Given the description of an element on the screen output the (x, y) to click on. 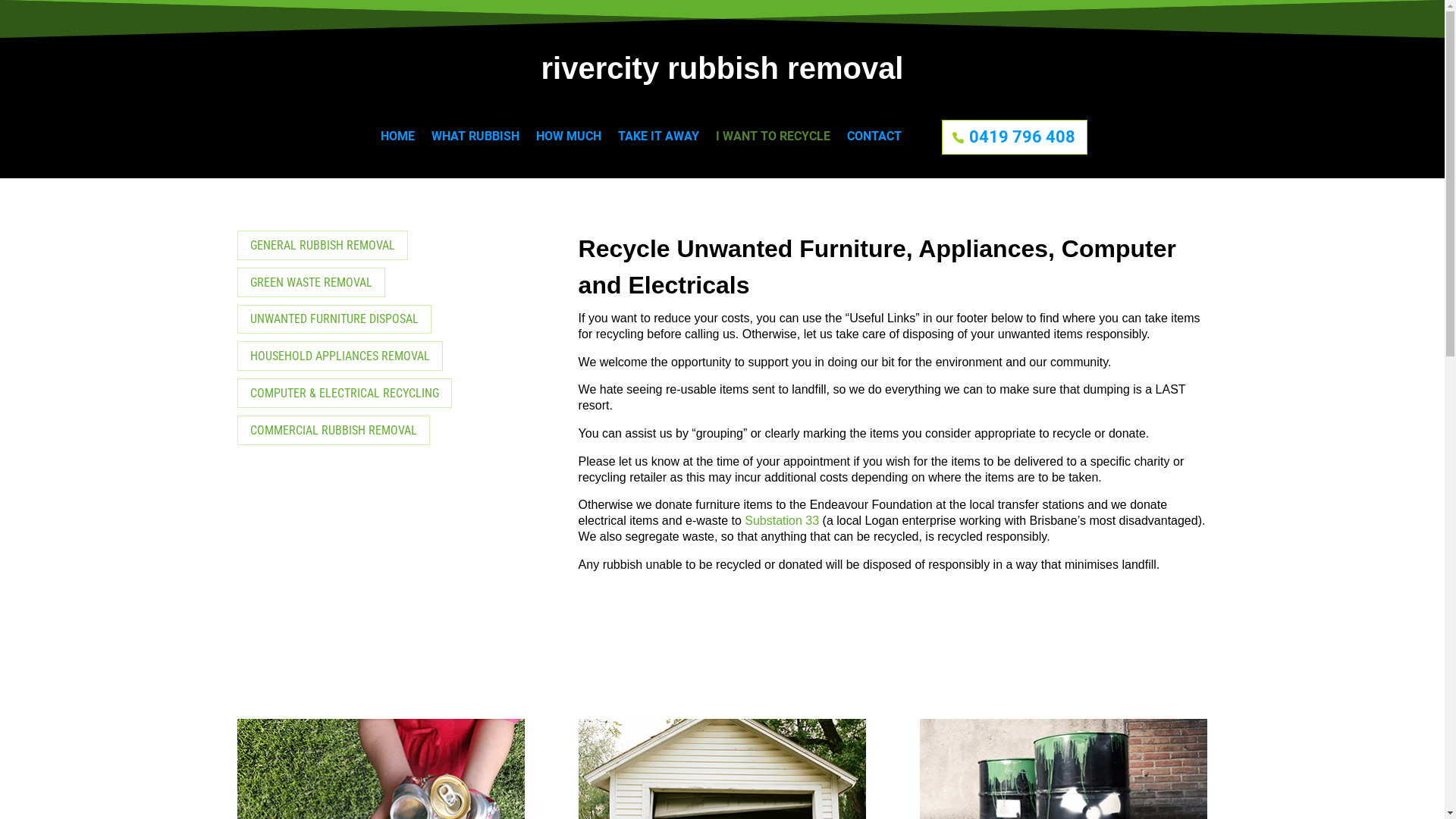
0419 796 408 Element type: text (1014, 136)
HOME Element type: text (397, 142)
HOW MUCH Element type: text (568, 142)
UNWANTED FURNITURE DISPOSAL Element type: text (333, 319)
HOUSEHOLD APPLIANCES REMOVAL Element type: text (339, 355)
CONTACT Element type: text (874, 142)
Substation 33 Element type: text (781, 520)
TAKE IT AWAY Element type: text (658, 142)
GENERAL RUBBISH REMOVAL Element type: text (321, 245)
COMPUTER & ELECTRICAL RECYCLING Element type: text (343, 392)
COMMERCIAL RUBBISH REMOVAL Element type: text (332, 430)
I WANT TO RECYCLE Element type: text (772, 142)
GREEN WASTE REMOVAL Element type: text (310, 282)
WHAT RUBBISH Element type: text (475, 142)
